Given the description of an element on the screen output the (x, y) to click on. 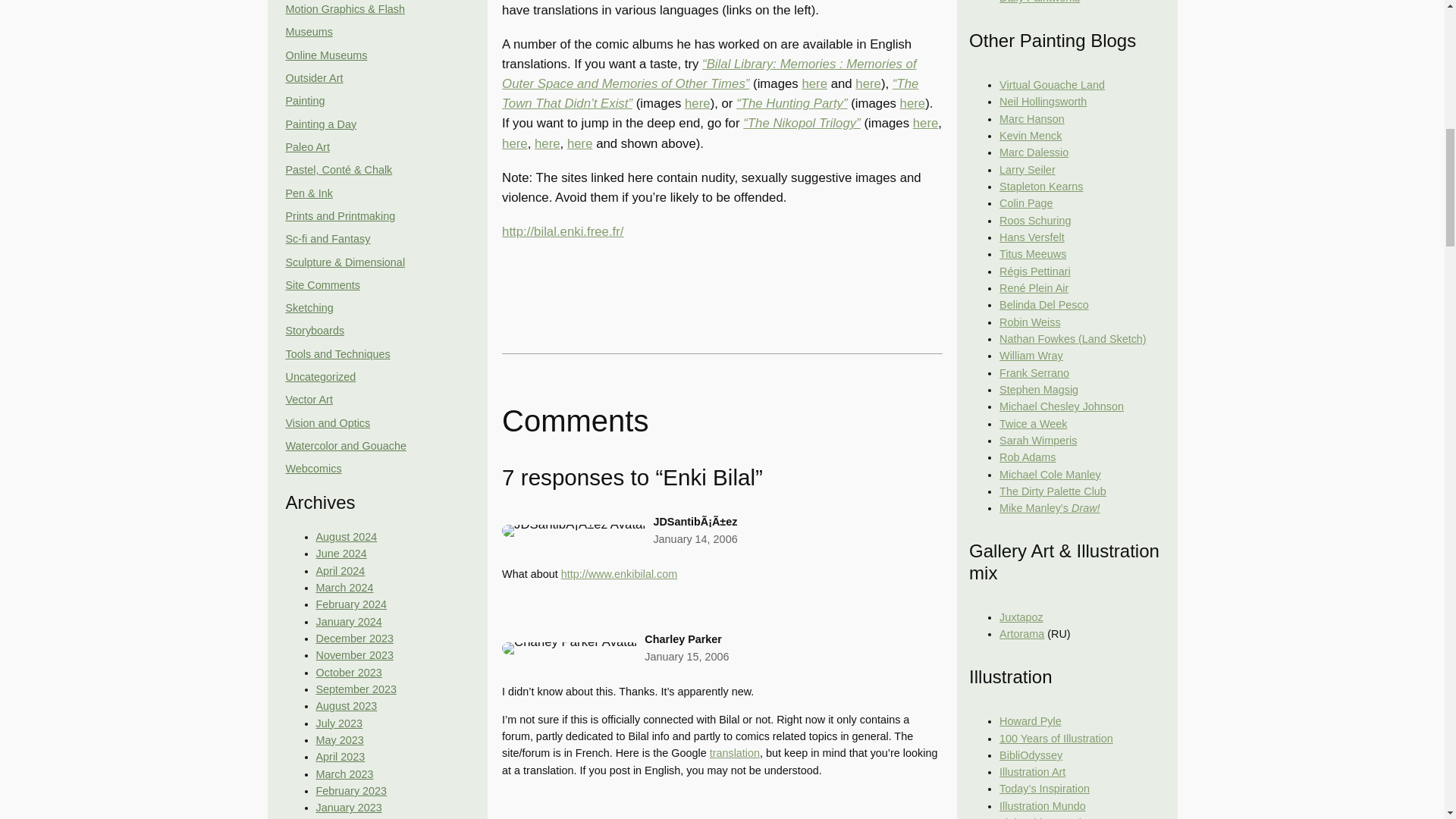
Painting a Day (320, 123)
Painting (304, 101)
Uncategorized (320, 377)
Sketching (309, 307)
Storyboards (314, 330)
Site Comments (322, 285)
Sc-fi and Fantasy (327, 238)
Museums (308, 31)
Paleo Art (307, 146)
Prints and Printmaking (339, 215)
